Given the description of an element on the screen output the (x, y) to click on. 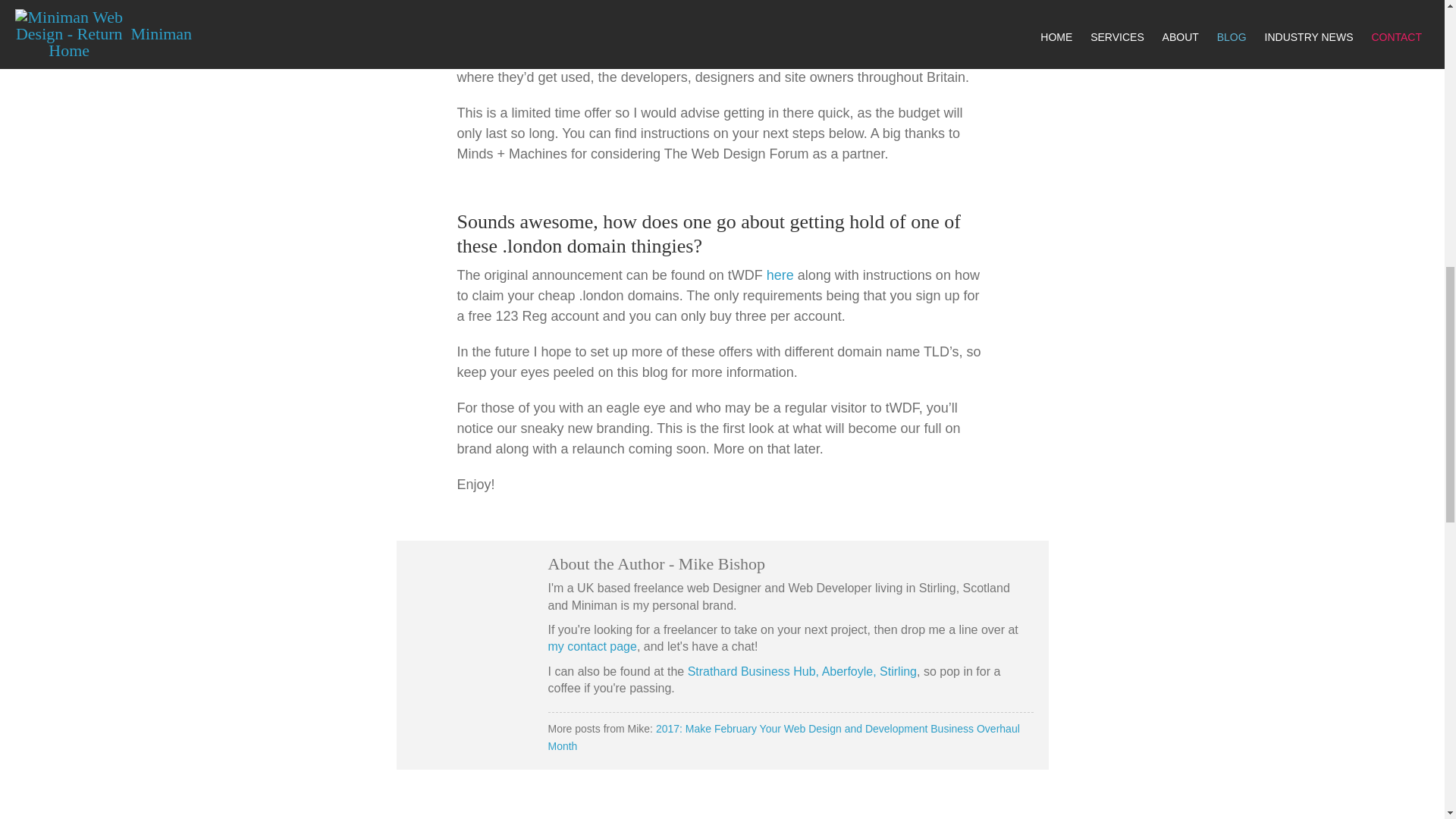
Strathard Business Hub, Aberfoyle, Stirling (802, 671)
Visit Strathard Hub (802, 671)
my contact page (591, 645)
here (780, 274)
